Given the description of an element on the screen output the (x, y) to click on. 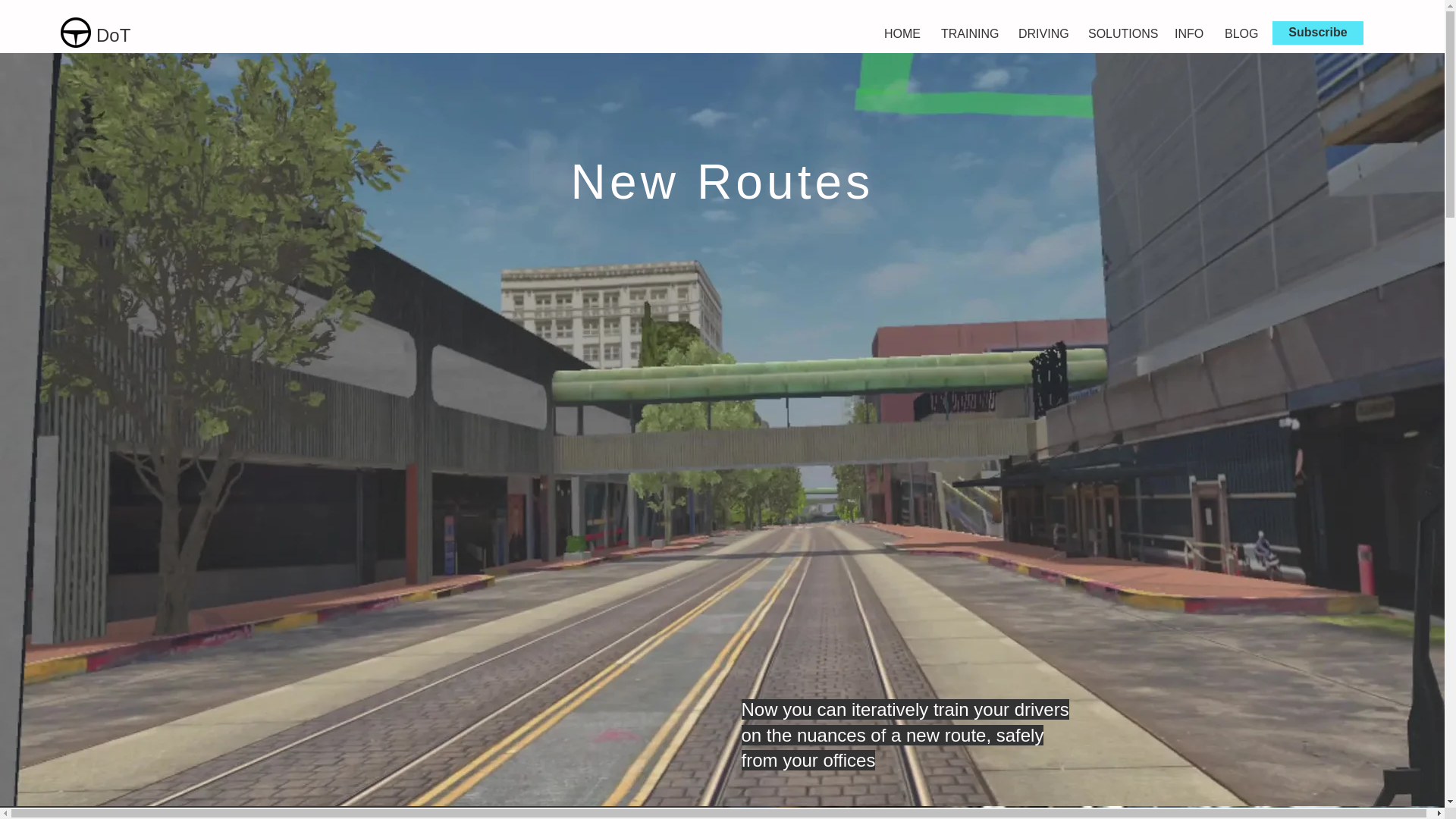
DoT (113, 35)
BLOG (1239, 34)
Subscribe (1317, 33)
HOME (901, 34)
